Given the description of an element on the screen output the (x, y) to click on. 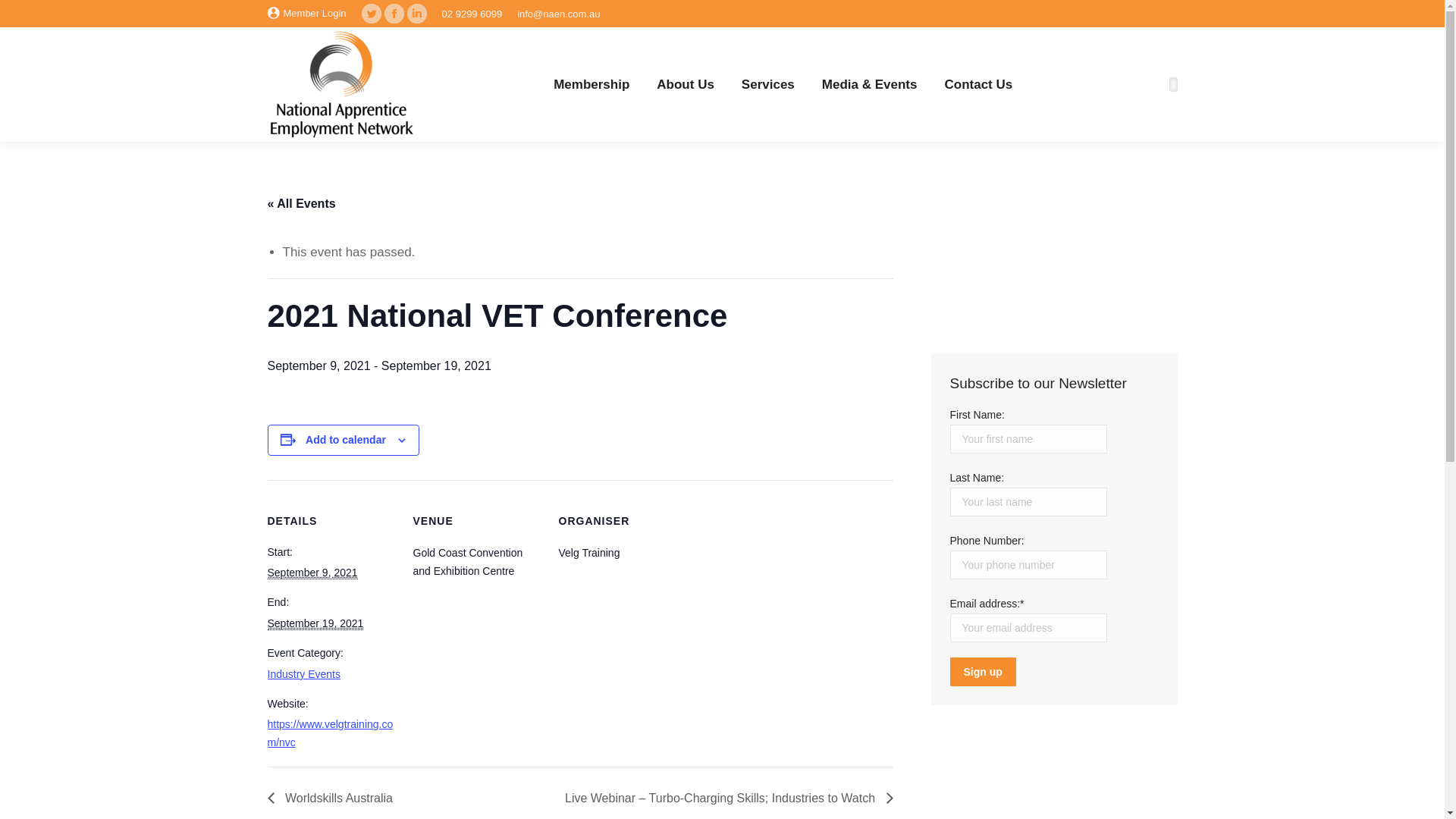
Member Login Element type: text (305, 13)
Go! Element type: text (22, 14)
https://www.velgtraining.com/nvc Element type: text (329, 733)
Post Comment Element type: text (51, 14)
Worldskills Australia Element type: text (333, 797)
About Us Element type: text (685, 84)
Linkedin Element type: hover (416, 13)
Services Element type: text (767, 84)
  Element type: text (1173, 84)
Contact Us Element type: text (978, 84)
Sign up Element type: text (982, 671)
Media & Events Element type: text (869, 84)
Facebook Element type: hover (394, 13)
Membership Element type: text (591, 84)
Twitter Element type: hover (371, 13)
Industry Events Element type: text (303, 674)
Add to calendar Element type: text (345, 439)
